Given the description of an element on the screen output the (x, y) to click on. 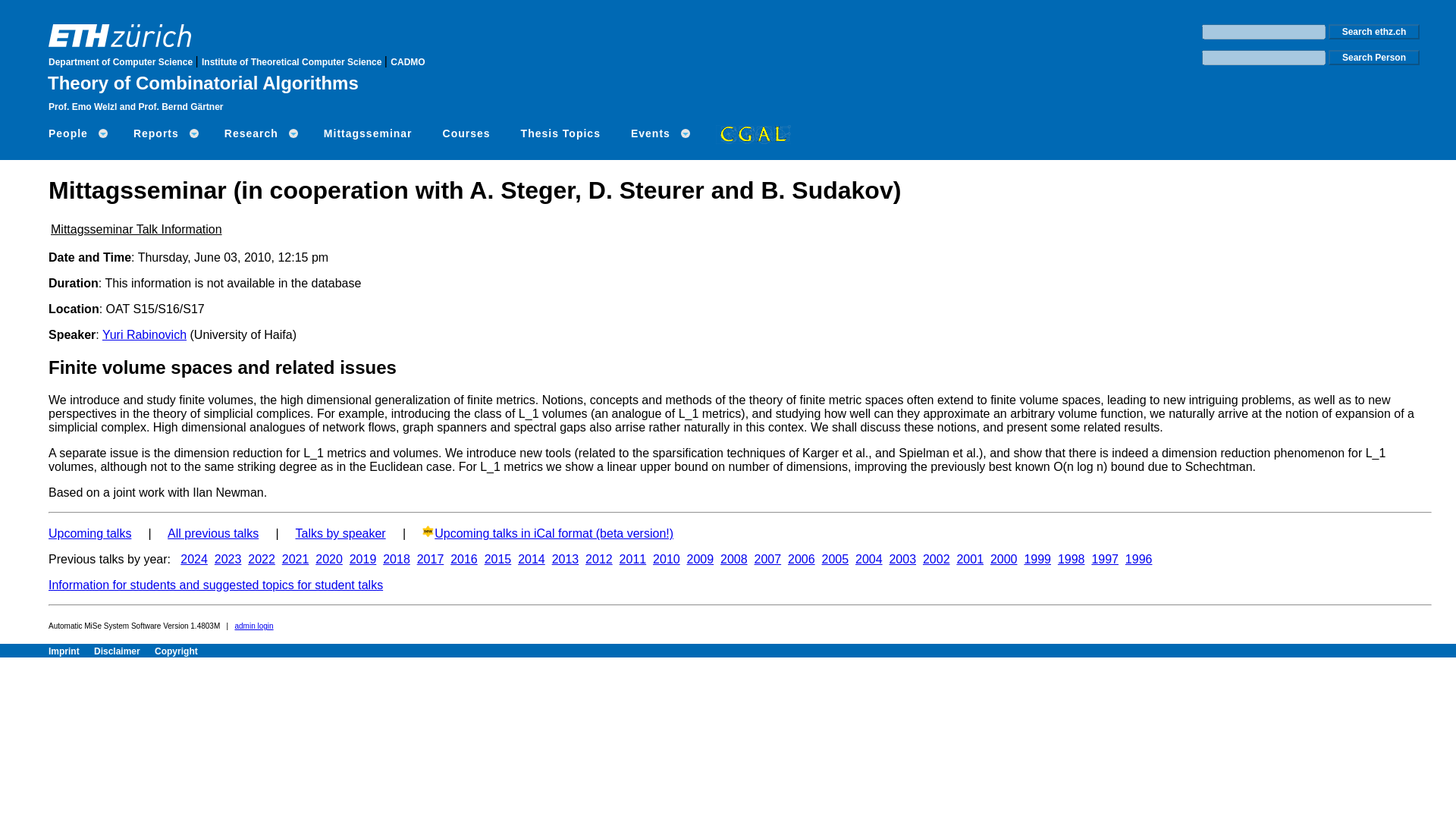
Upcoming talks (89, 533)
All previous talks (213, 533)
Reports (163, 133)
Talks by speaker (340, 533)
Thesis Topics (560, 133)
Search Person (1373, 57)
Department of Computer Science (121, 61)
Yuri Rabinovich (143, 334)
Theory of Combinatorial Algorithms (203, 82)
2024 (194, 558)
Courses (466, 133)
Search ethz.ch (1373, 31)
CADMO (407, 61)
2023 (227, 558)
Mittagsseminar (368, 133)
